Given the description of an element on the screen output the (x, y) to click on. 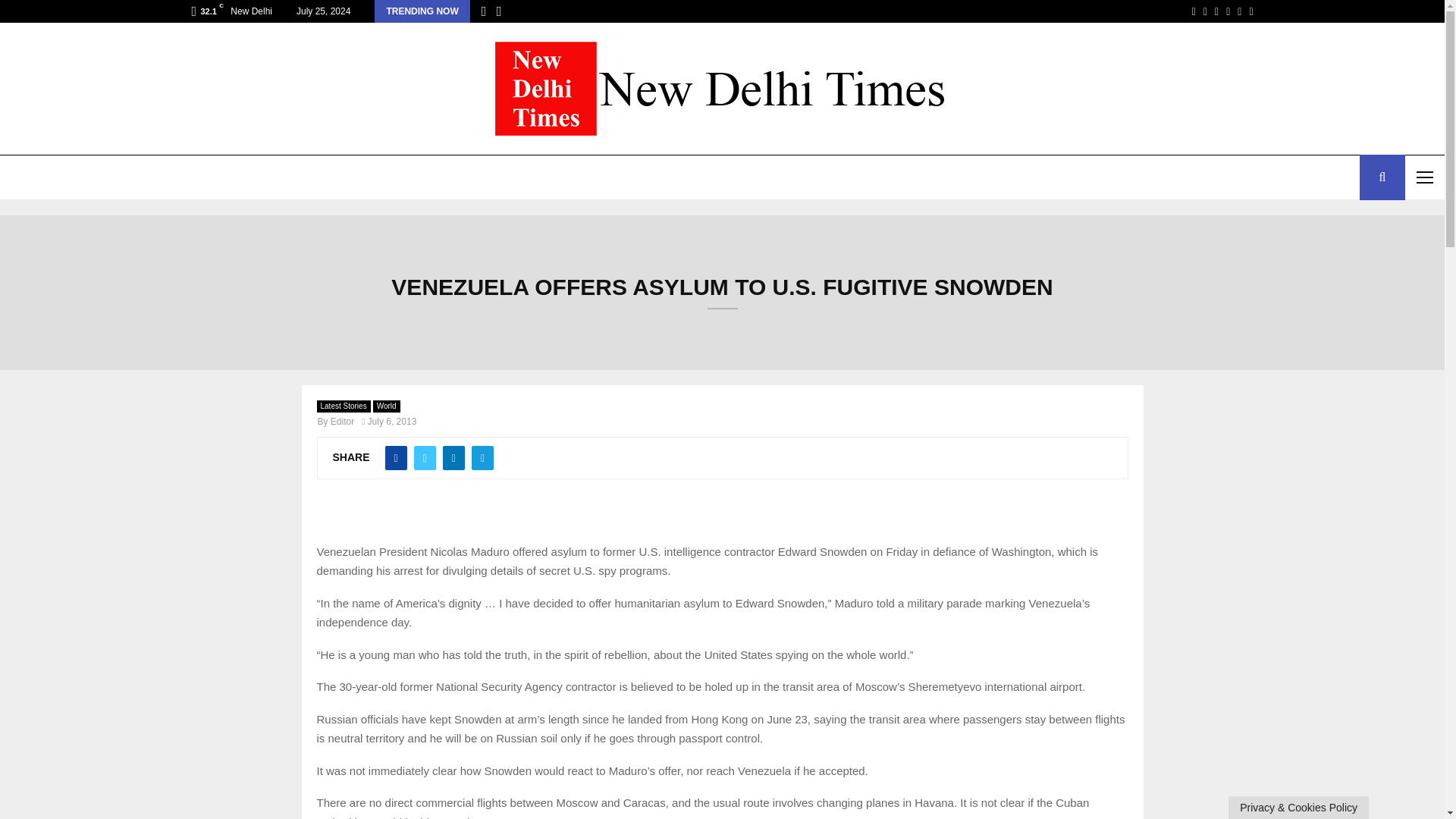
SPORTS (283, 176)
Youtube (1239, 11)
Instagram (1216, 11)
Facebook (1193, 11)
LATEST STORIES (56, 176)
Instagram (1216, 11)
Twitter (1205, 11)
WORLD (148, 176)
INDIA (215, 176)
Email (1250, 11)
Linkedin (1227, 11)
Email (1250, 11)
Linkedin (1227, 11)
Youtube (1239, 11)
Twitter (1205, 11)
